Given the description of an element on the screen output the (x, y) to click on. 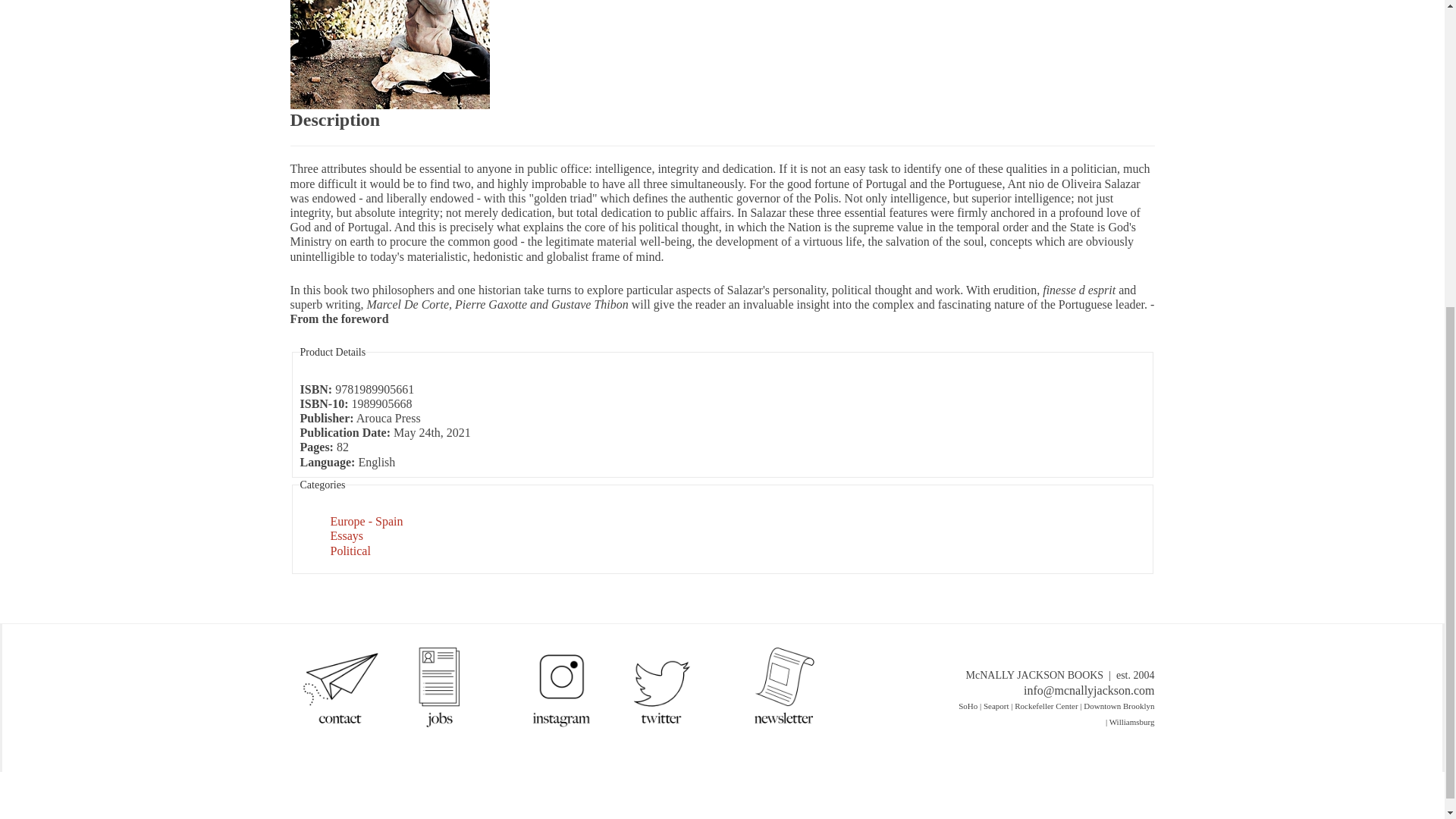
Europe - Spain (366, 521)
Political (350, 550)
Essays (347, 535)
